Given the description of an element on the screen output the (x, y) to click on. 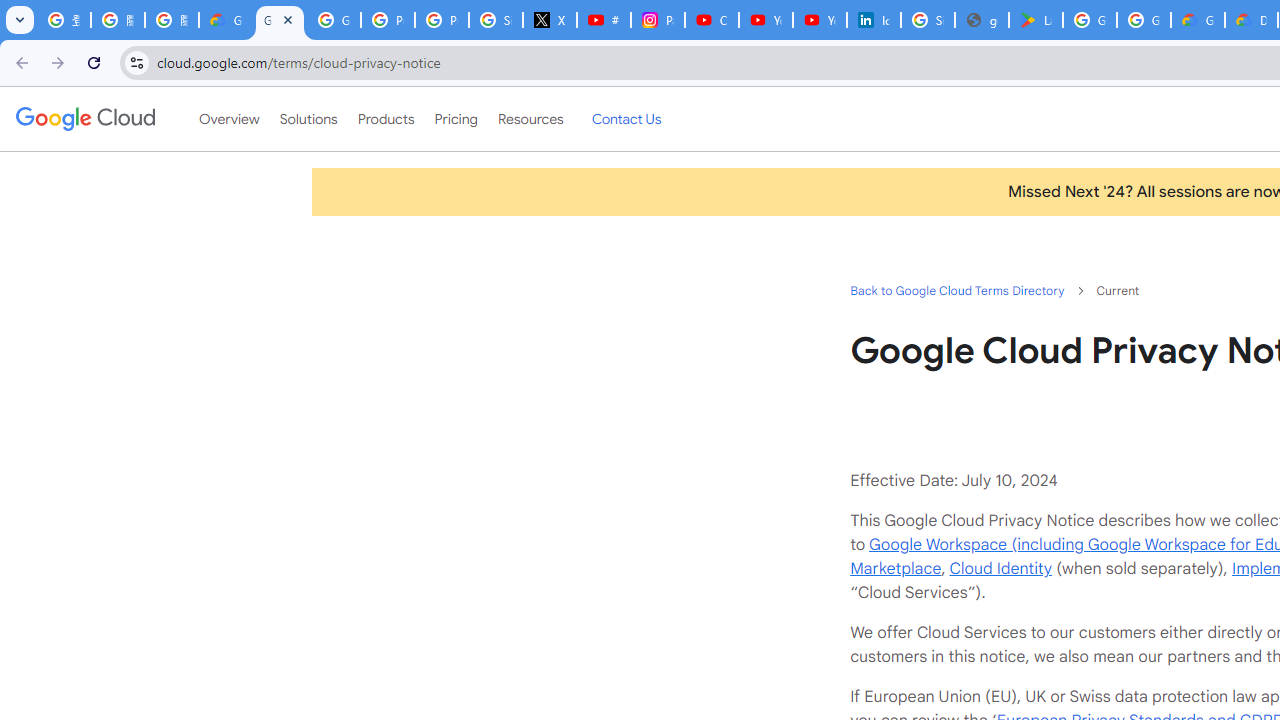
Google Cloud Privacy Notice (280, 20)
Google Cloud Privacy Notice (225, 20)
#nbabasketballhighlights - YouTube (604, 20)
Privacy Help Center - Policies Help (387, 20)
